Given the description of an element on the screen output the (x, y) to click on. 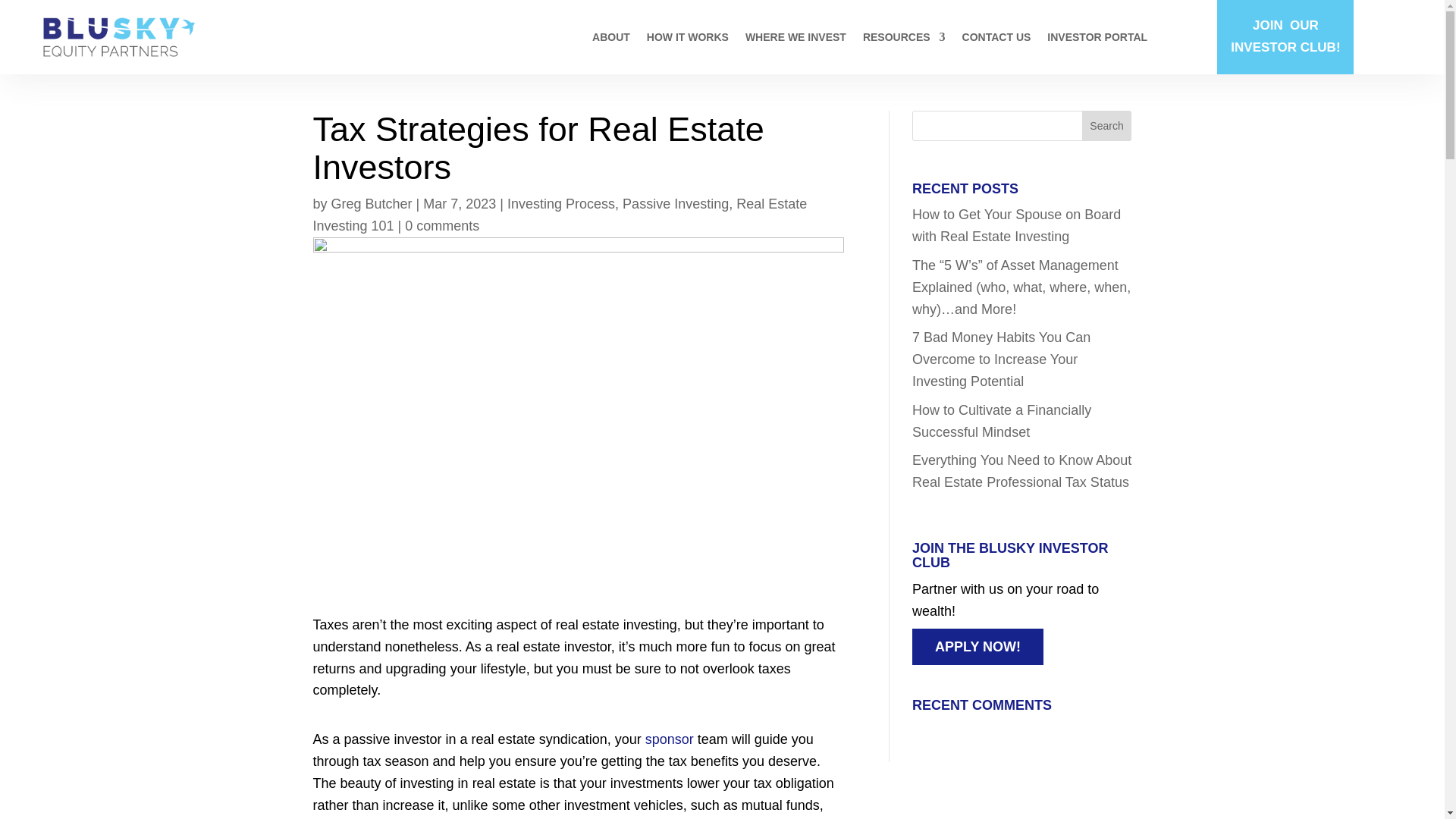
RESOURCES (903, 39)
WHERE WE INVEST (795, 39)
Investing Process (560, 203)
CONTACT US (996, 39)
Search (1106, 125)
Greg Butcher (371, 203)
sponsor (669, 739)
Passive Investing (676, 203)
Real Estate Investing 101 (559, 214)
0 comments (441, 225)
